Given the description of an element on the screen output the (x, y) to click on. 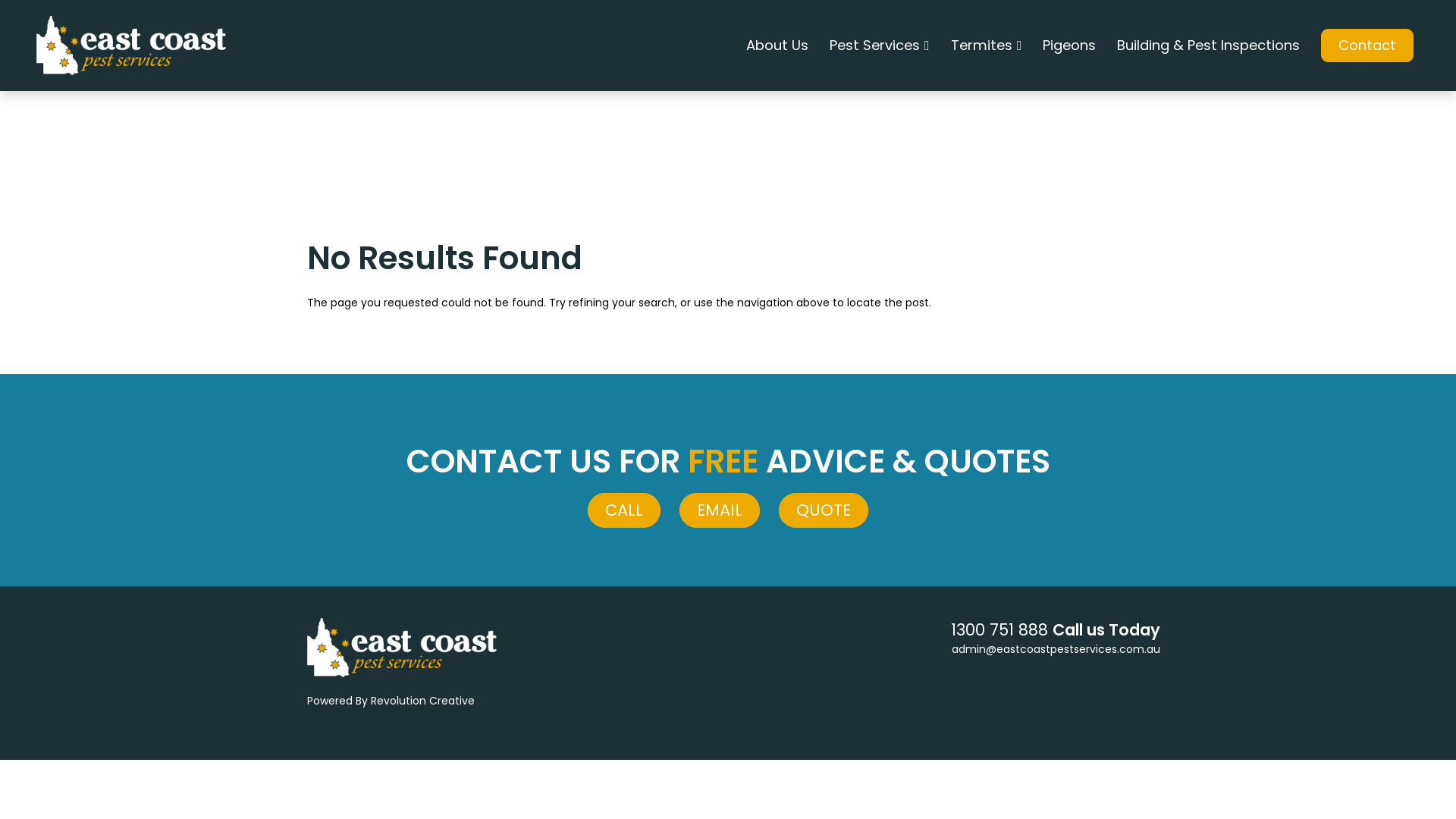
Pigeons Element type: text (1069, 44)
QUOTE Element type: text (823, 509)
admin@eastcoastpestservices.com.au Element type: text (1055, 648)
1300 751 888 Call us Today Element type: text (1055, 629)
EMAIL Element type: text (719, 509)
Contact Element type: text (1367, 45)
Termites Element type: text (986, 45)
Revolution Creative Element type: text (422, 692)
CALL Element type: text (623, 509)
Pest Services Element type: text (879, 45)
Building & Pest Inspections Element type: text (1208, 44)
About Us Element type: text (777, 44)
